Given the description of an element on the screen output the (x, y) to click on. 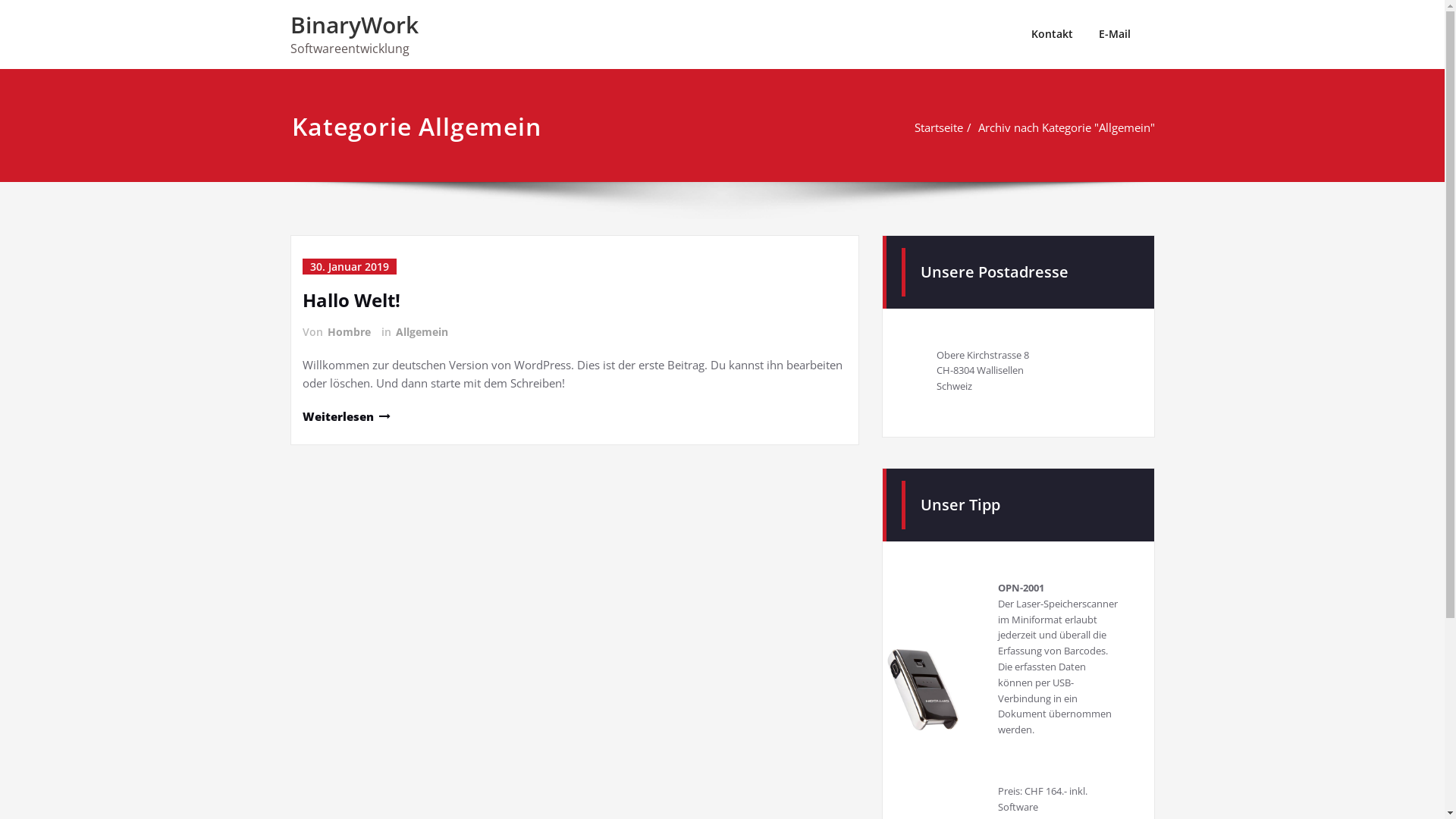
Allgemein Element type: text (421, 331)
Kontakt Element type: text (1051, 34)
Weiterlesen Element type: text (345, 416)
Skip to content Element type: text (0, 0)
Hallo Welt! Element type: text (350, 299)
E-Mail Element type: text (1114, 34)
Archiv nach Kategorie "Allgemein" Element type: text (1066, 126)
Hombre Element type: text (348, 331)
30. Januar 2019 Element type: text (348, 266)
BinaryWork Element type: text (353, 24)
Startseite Element type: text (938, 126)
